Given the description of an element on the screen output the (x, y) to click on. 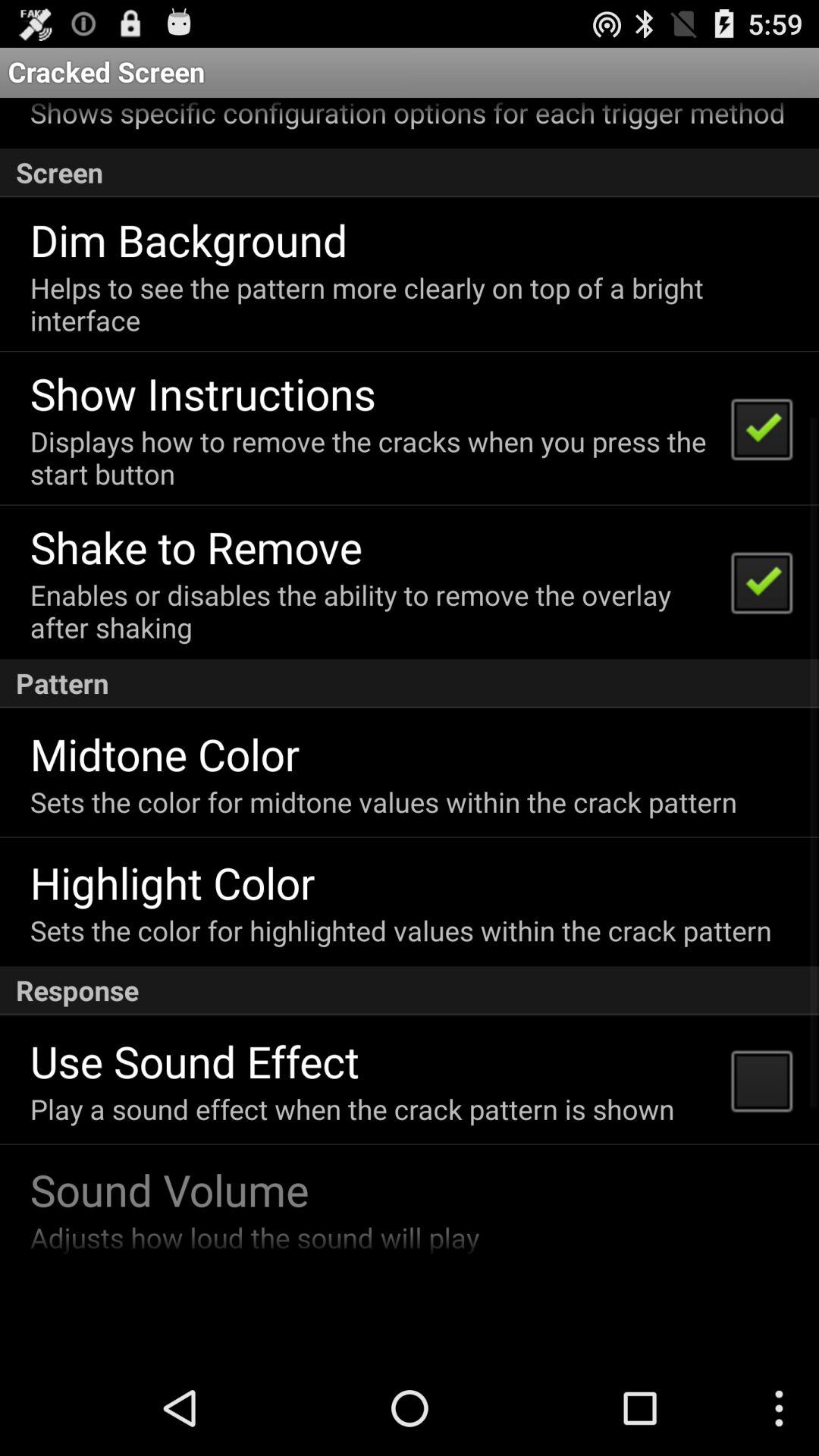
select the icon below cracked screen (407, 114)
